Given the description of an element on the screen output the (x, y) to click on. 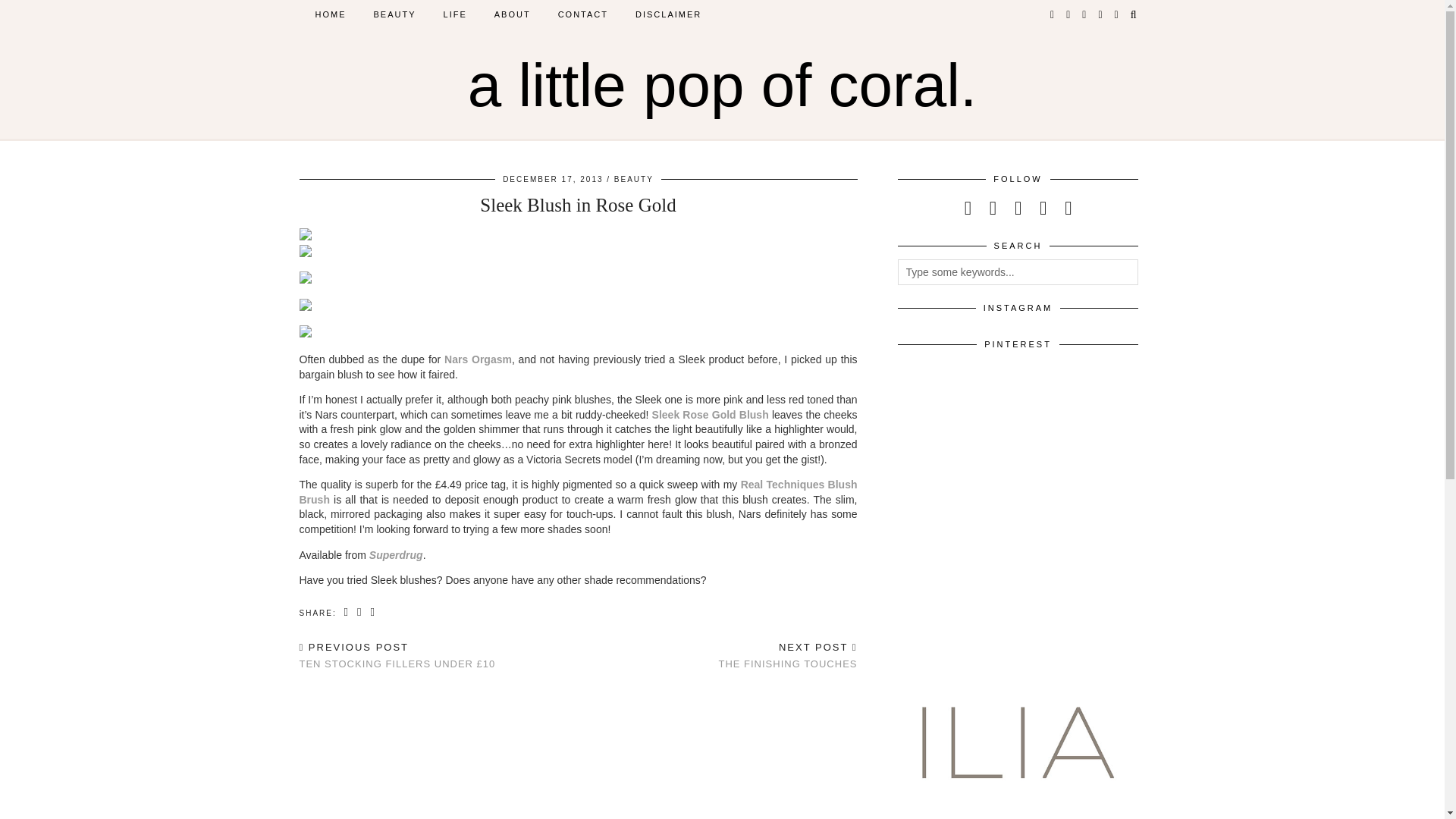
CONTACT (582, 14)
HOME (330, 14)
ABOUT (512, 14)
a little pop of coral. (721, 84)
DISCLAIMER (667, 14)
LIFE (454, 14)
a little pop of coral. (721, 84)
BEAUTY (394, 14)
